Given the description of an element on the screen output the (x, y) to click on. 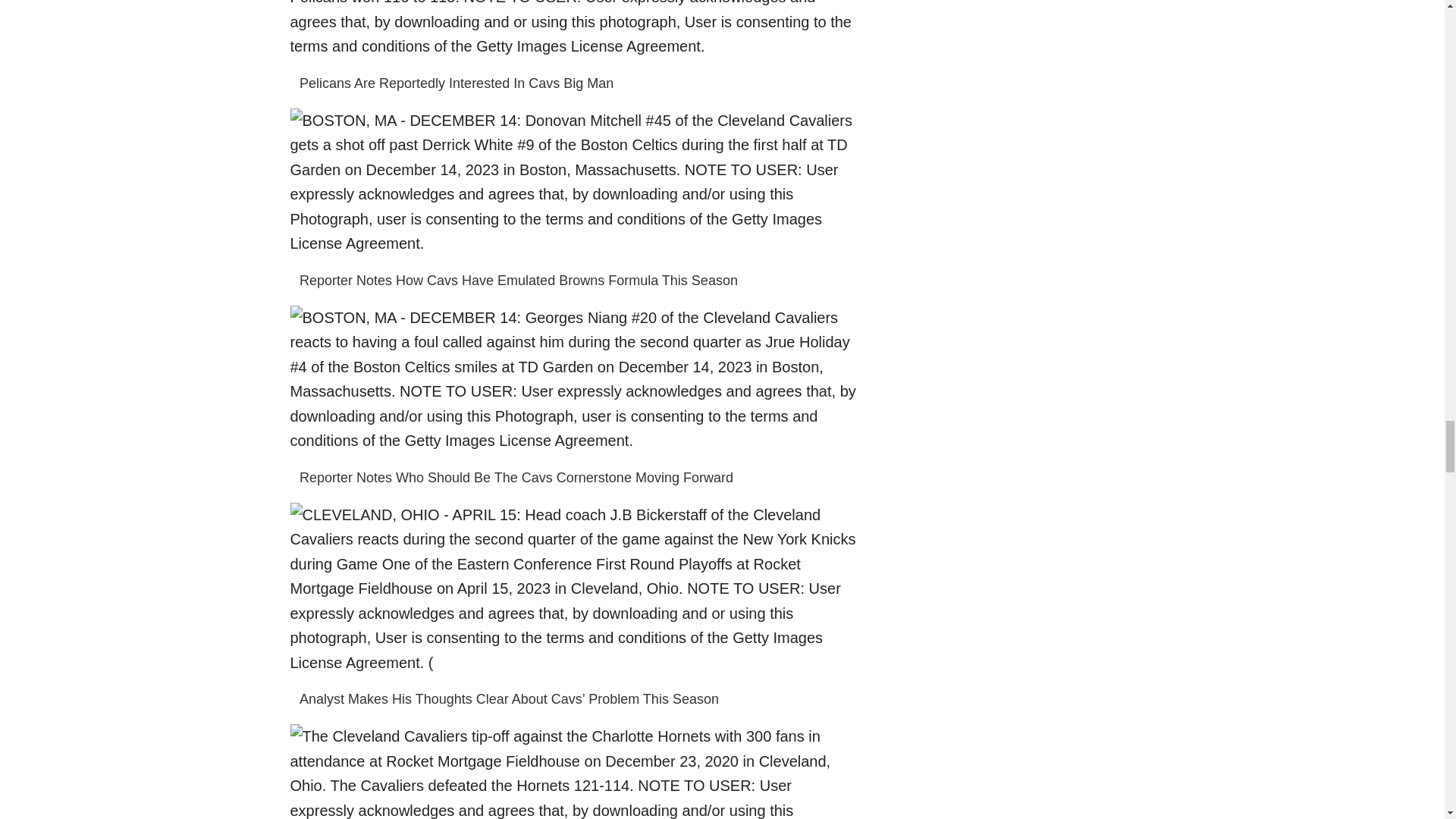
Pelicans Are Reportedly Interested In Cavs Big Man (455, 83)
